Given the description of an element on the screen output the (x, y) to click on. 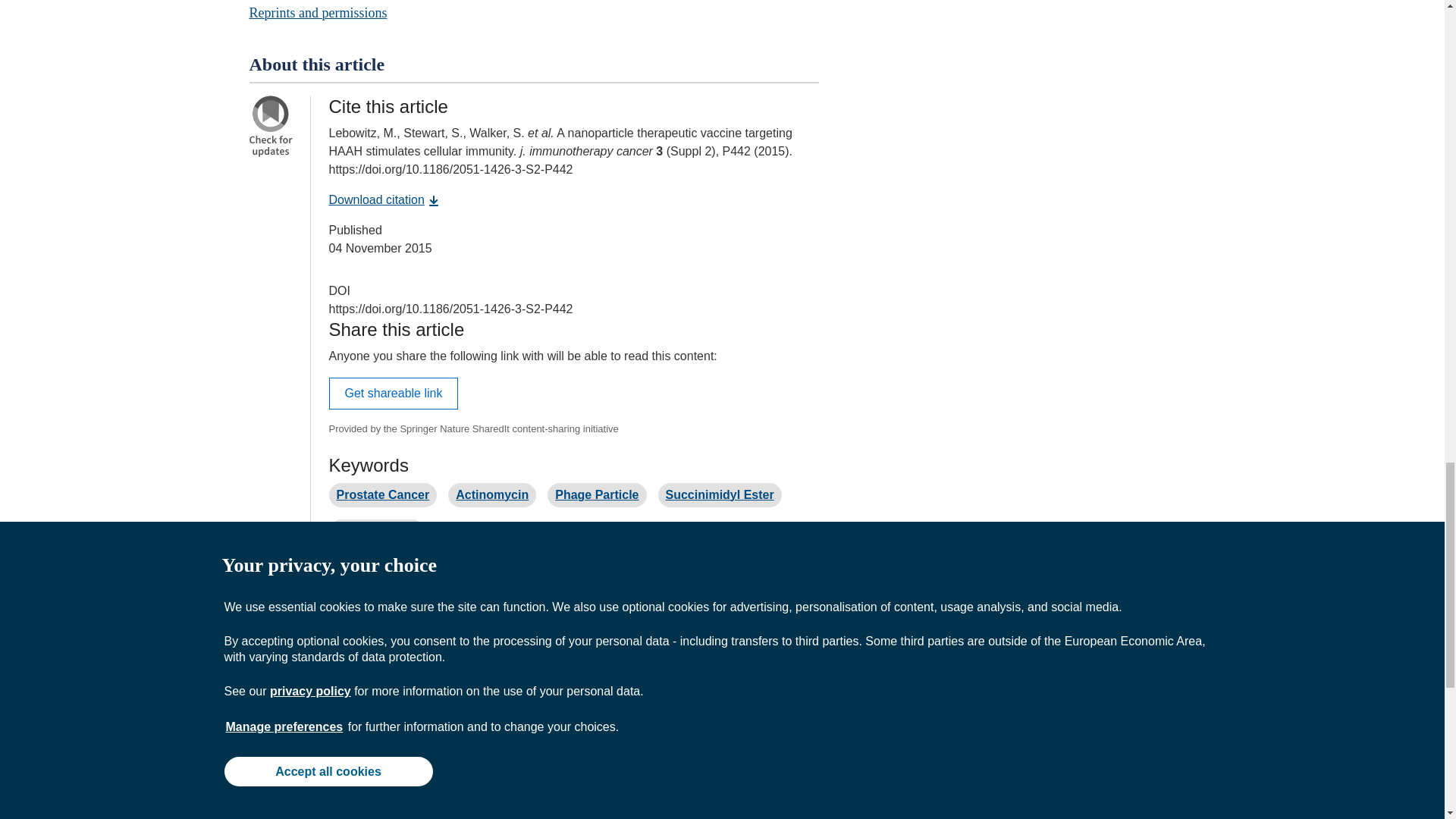
Digital Object Identifier (339, 290)
